Given the description of an element on the screen output the (x, y) to click on. 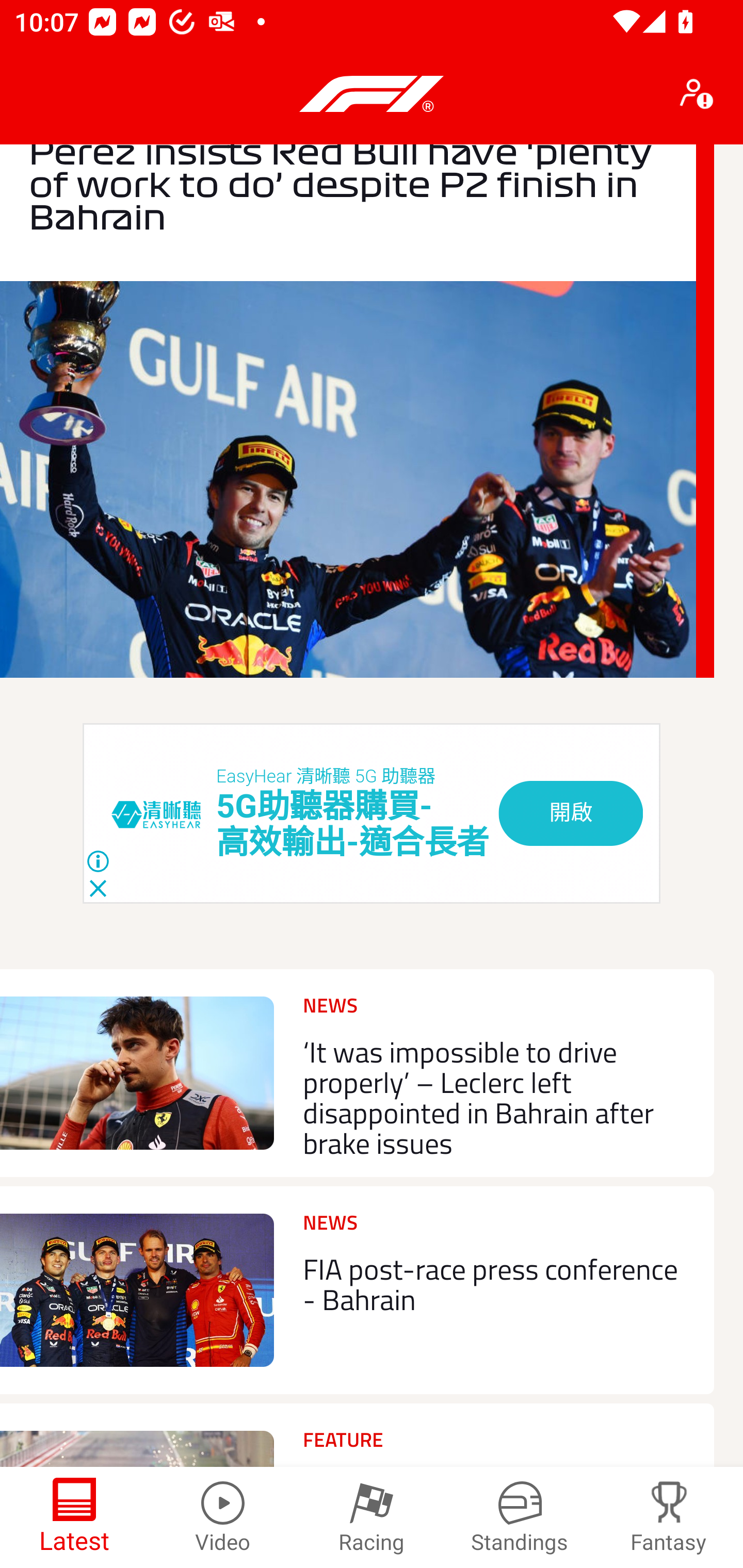
EasyHear 清晰聽 5G 助聽器 (326, 776)
easyhear.com (163, 813)
開啟 (570, 812)
5G助聽器購買- 高效輸出-適合長者 5G助聽器購買- 高效輸出-適合長者 (353, 825)
Video (222, 1517)
Racing (371, 1517)
Standings (519, 1517)
Fantasy (668, 1517)
